Given the description of an element on the screen output the (x, y) to click on. 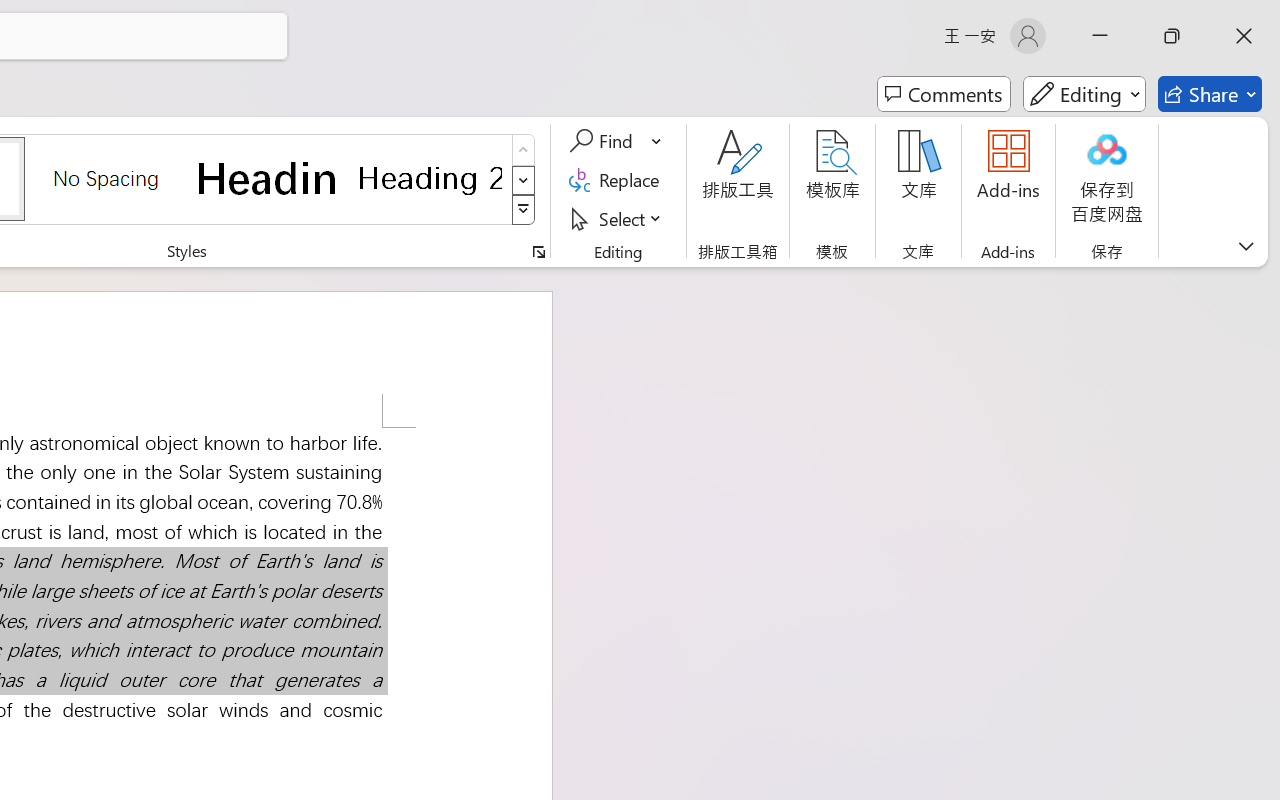
Row Down (523, 180)
Styles (523, 209)
Heading 1 (267, 178)
